Given the description of an element on the screen output the (x, y) to click on. 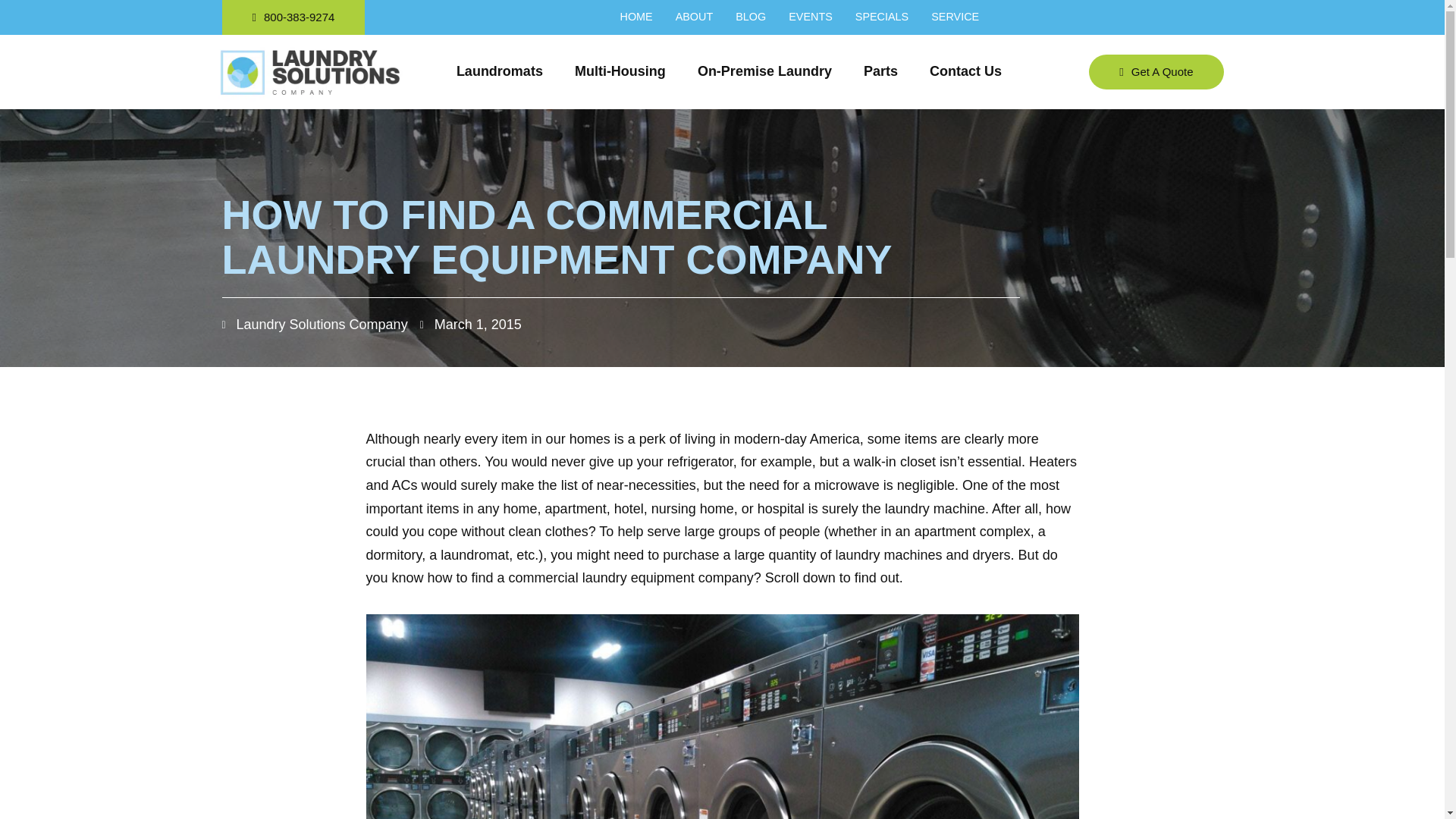
Laundromats (500, 71)
SERVICE (954, 17)
Multi-Housing (620, 71)
800-383-9274 (293, 17)
BLOG (750, 17)
SPECIALS (882, 17)
Get A Quote (1156, 71)
EVENTS (810, 17)
Contact Us (965, 71)
HOME (636, 17)
ABOUT (694, 17)
Parts (880, 71)
On-Premise Laundry (764, 71)
